Given the description of an element on the screen output the (x, y) to click on. 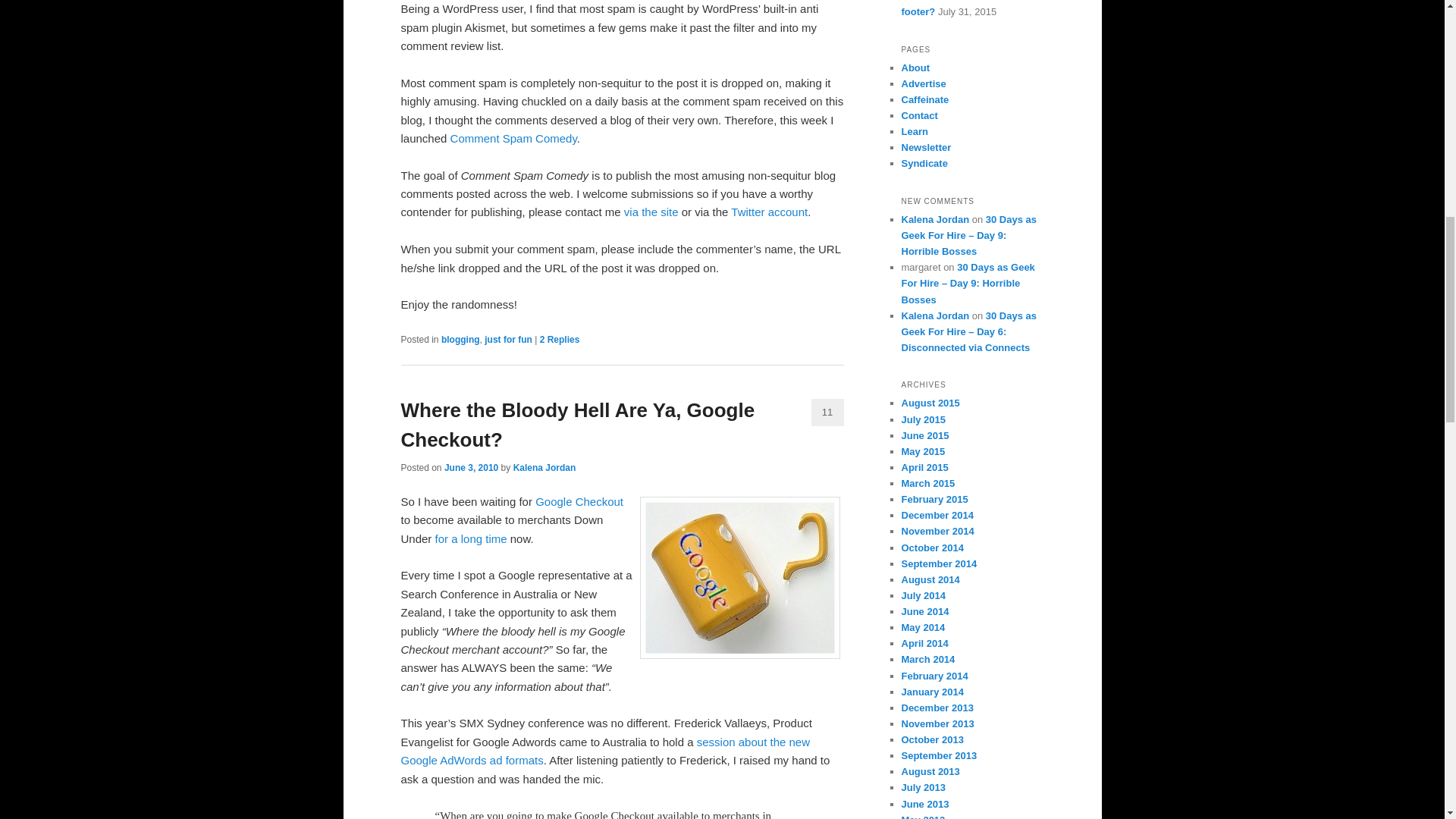
2 Replies (559, 339)
for a long time (470, 538)
contact Comment Spam Comedy (651, 211)
Google Checkout (579, 501)
Kalena Jordan (544, 467)
Google checkout (470, 538)
8:20 pm (470, 467)
broken google (740, 577)
via the site (651, 211)
Comment Spam Comedy (512, 137)
11 (827, 411)
New Google AdWords ad formats (604, 750)
Comment Spam Comedy on Twitter (769, 211)
just for fun (508, 339)
blogging (460, 339)
